Given the description of an element on the screen output the (x, y) to click on. 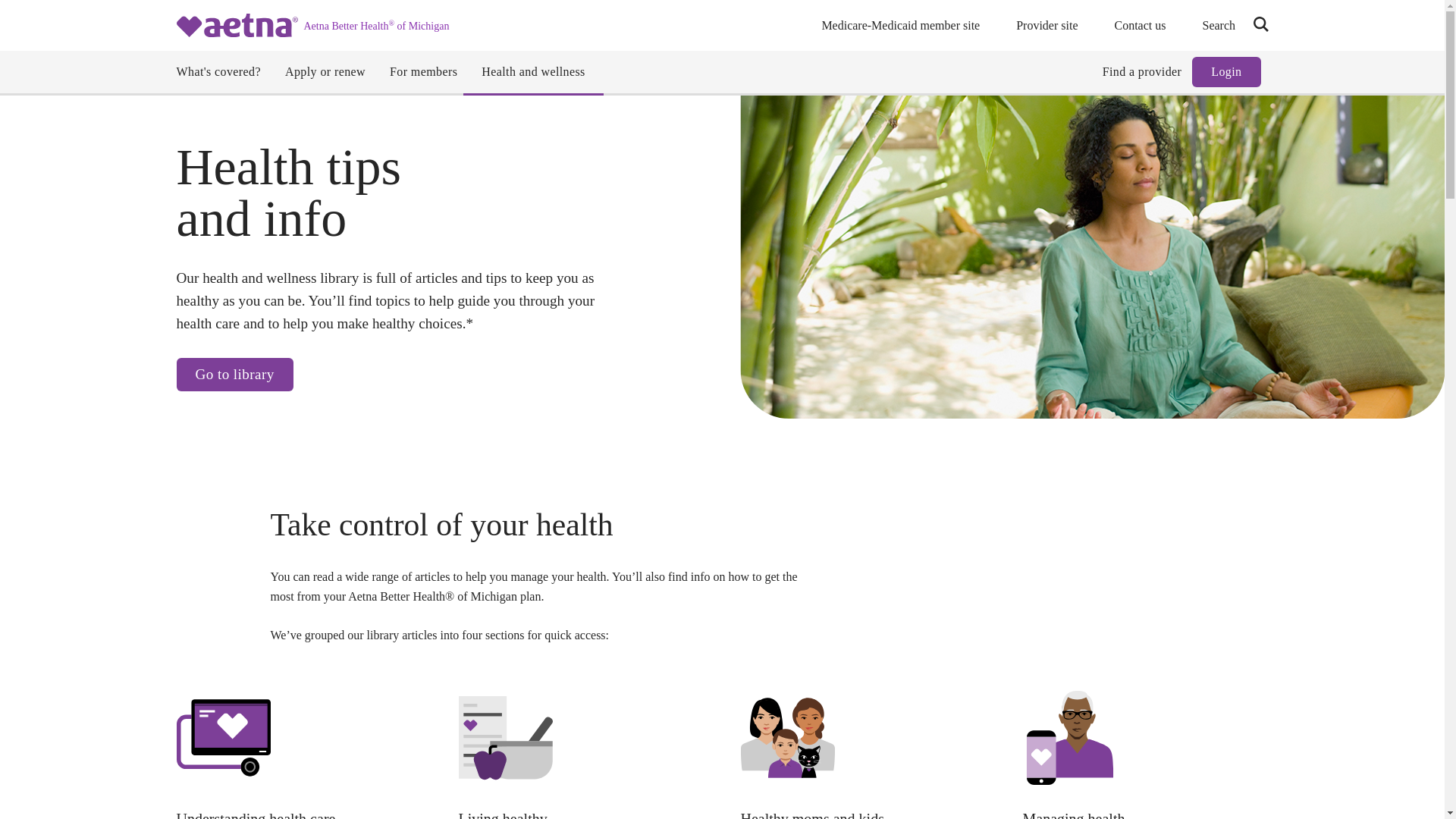
Apply or renew (325, 71)
Provider site (1046, 24)
Medicare-Medicaid member site (900, 24)
Contact us (1140, 24)
What's covered? (218, 71)
